Given the description of an element on the screen output the (x, y) to click on. 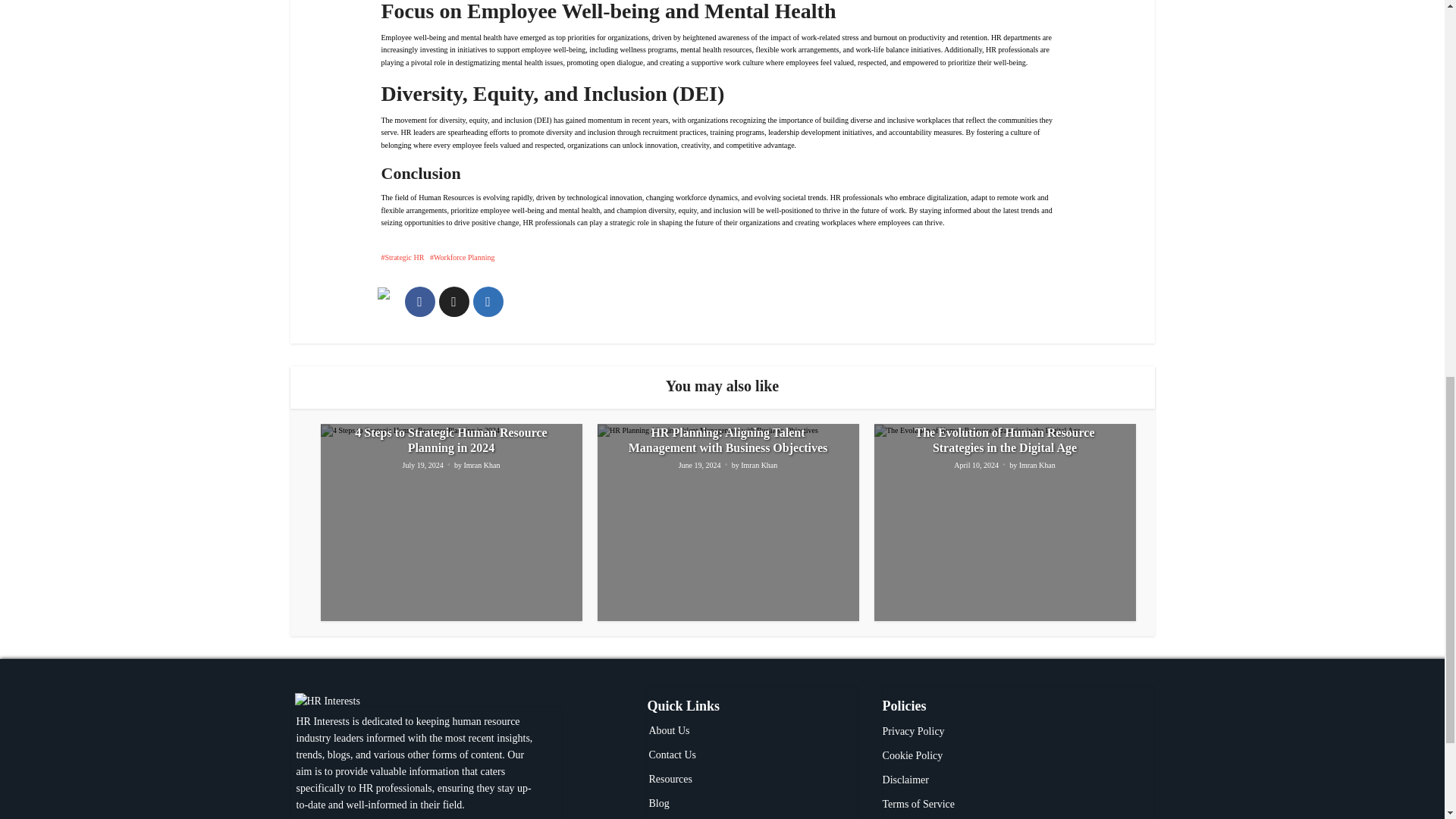
Imran Khan (481, 465)
4 Steps to Strategic Human Resource Planning in 2024 (450, 440)
Strategic HR (401, 257)
4 Steps to Strategic Human Resource Planning in 2024 (450, 440)
Workforce Planning (462, 257)
